Given the description of an element on the screen output the (x, y) to click on. 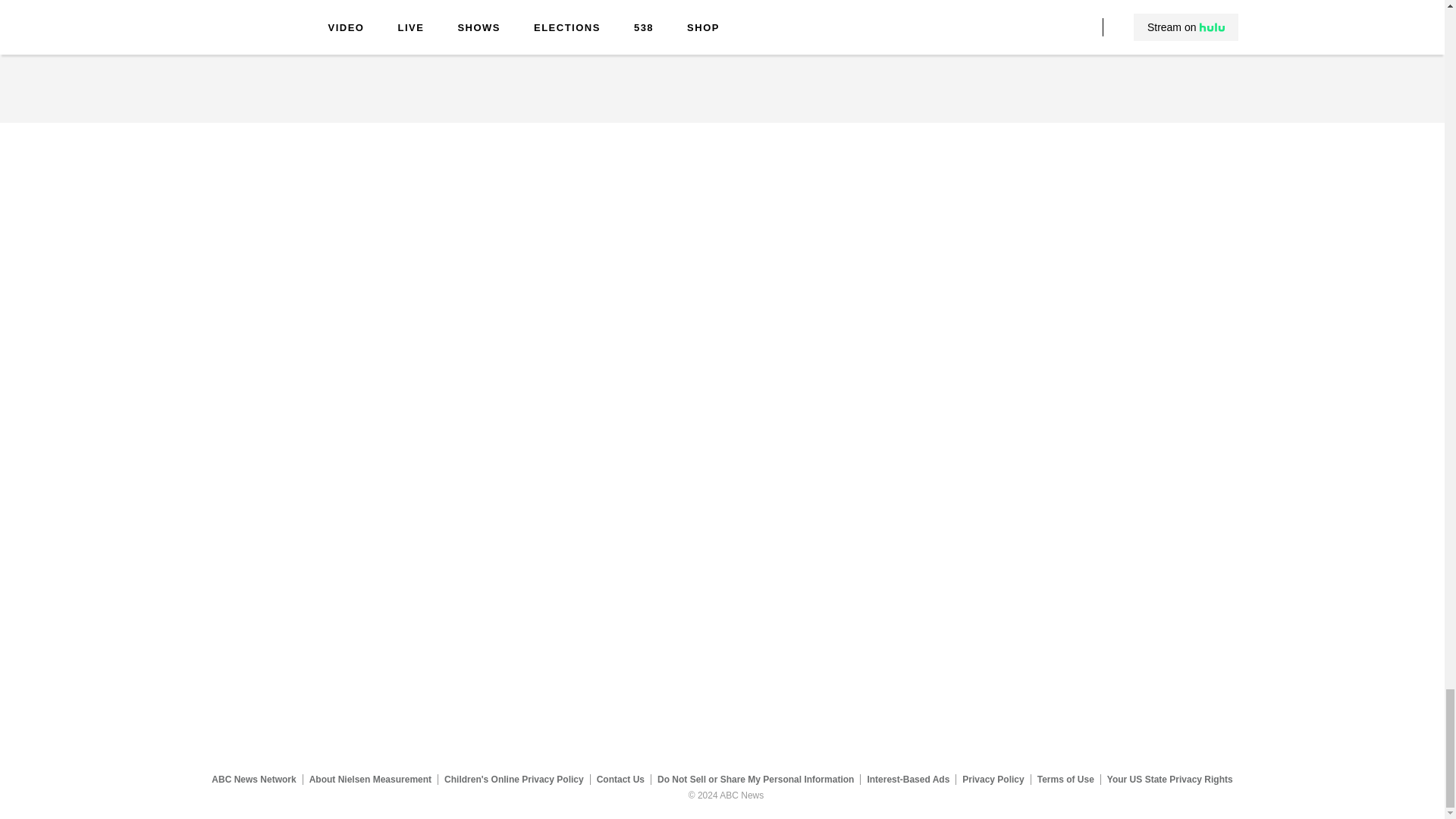
Terms of Use (1065, 778)
Children's Online Privacy Policy (514, 778)
ABC News Network (253, 778)
Contact Us (620, 778)
Your US State Privacy Rights (1169, 778)
Privacy Policy (993, 778)
Do Not Sell or Share My Personal Information (755, 778)
About Nielsen Measurement (370, 778)
Interest-Based Ads (908, 778)
